Given the description of an element on the screen output the (x, y) to click on. 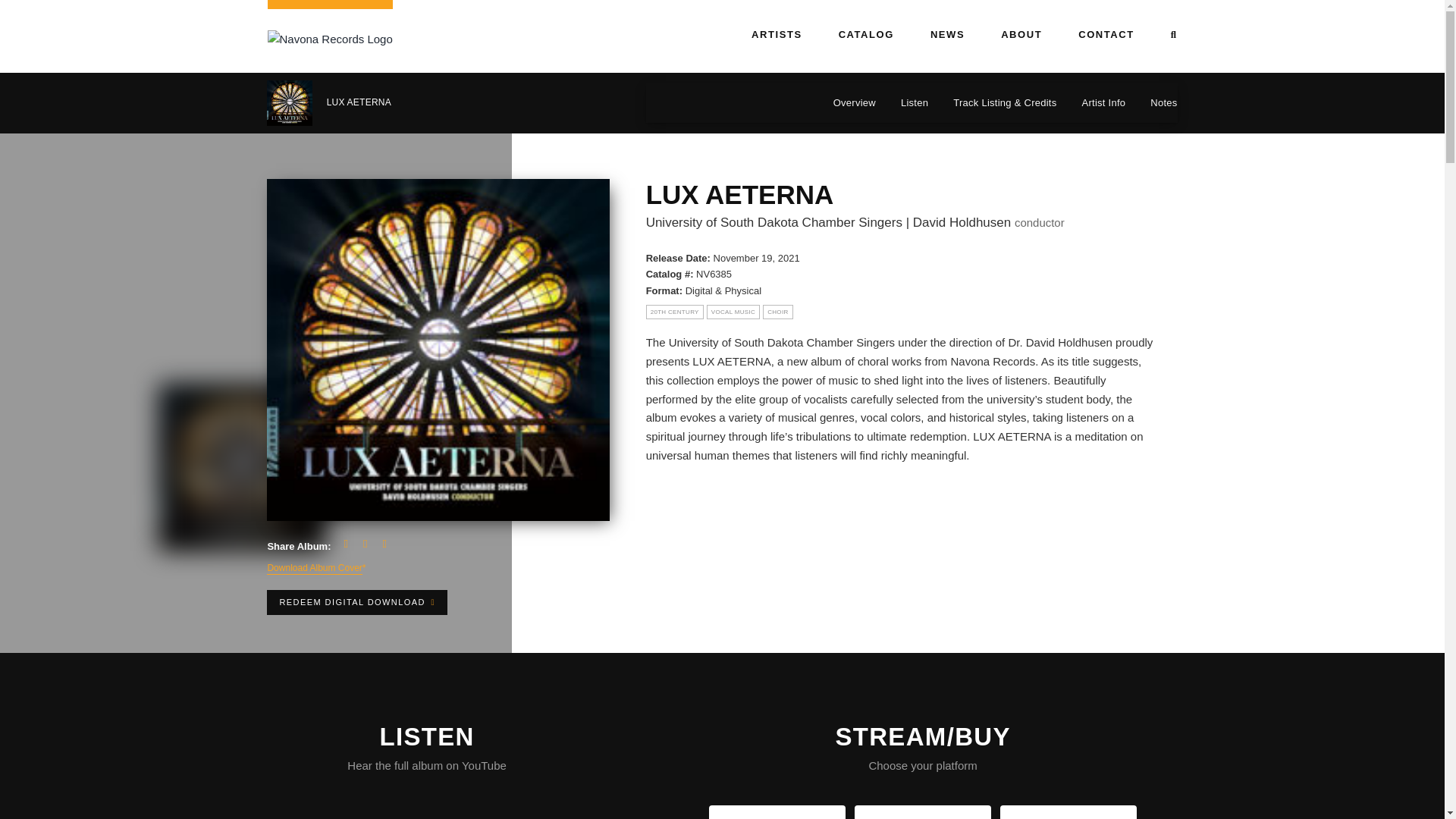
Artist Info (1095, 102)
Twitter (364, 543)
Email (383, 543)
Listen (906, 102)
Download Album Cover (313, 568)
Notes (1155, 102)
apple (777, 813)
amazon-digital (1068, 813)
spotify (922, 813)
Facebook (345, 543)
